Given the description of an element on the screen output the (x, y) to click on. 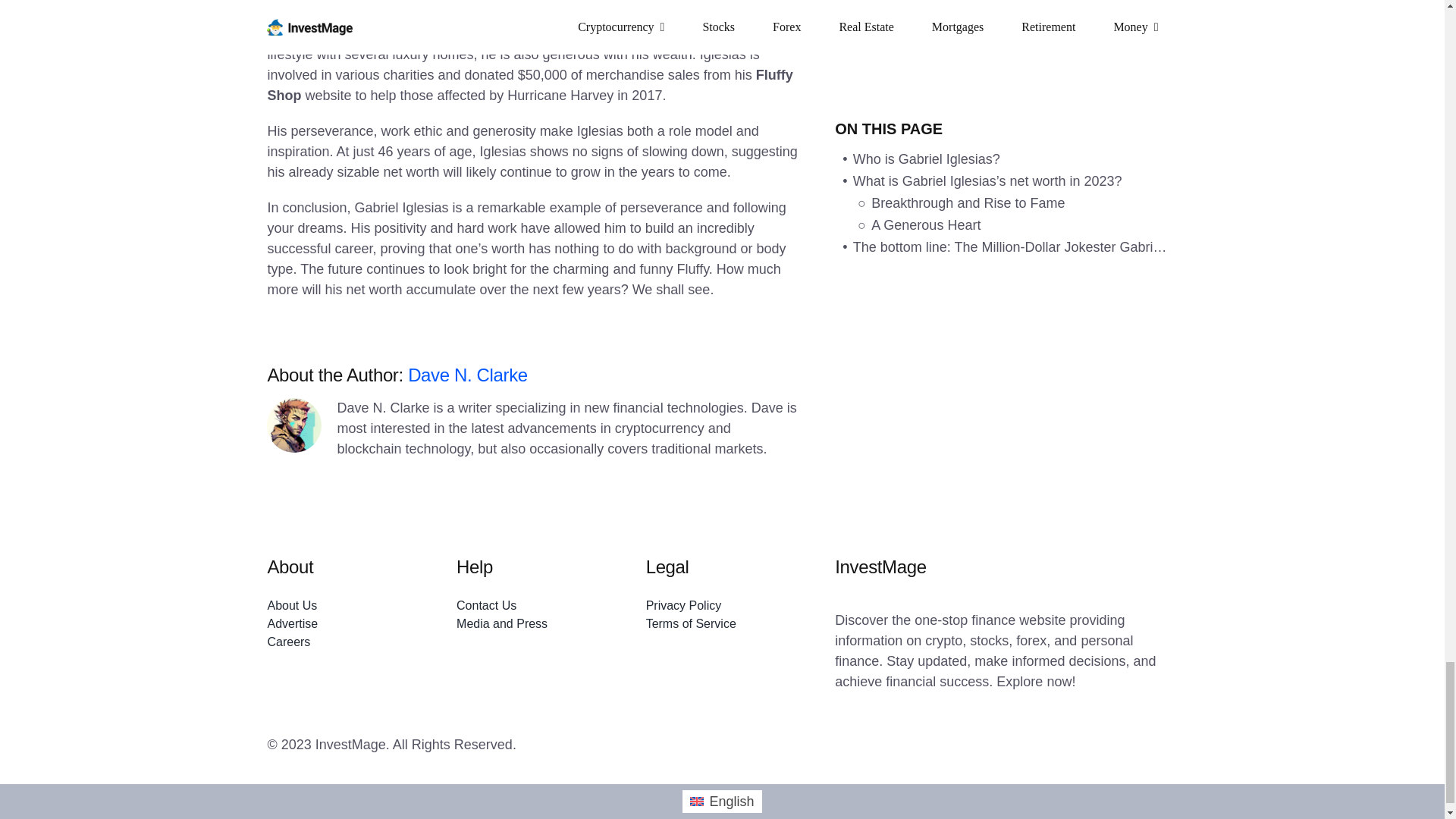
Careers (343, 642)
Contact Us (533, 606)
Privacy Policy (722, 606)
Advertise (343, 624)
Media and Press (533, 624)
About Us (343, 606)
Terms of Service (722, 624)
Dave N. Clarke (467, 374)
